Given the description of an element on the screen output the (x, y) to click on. 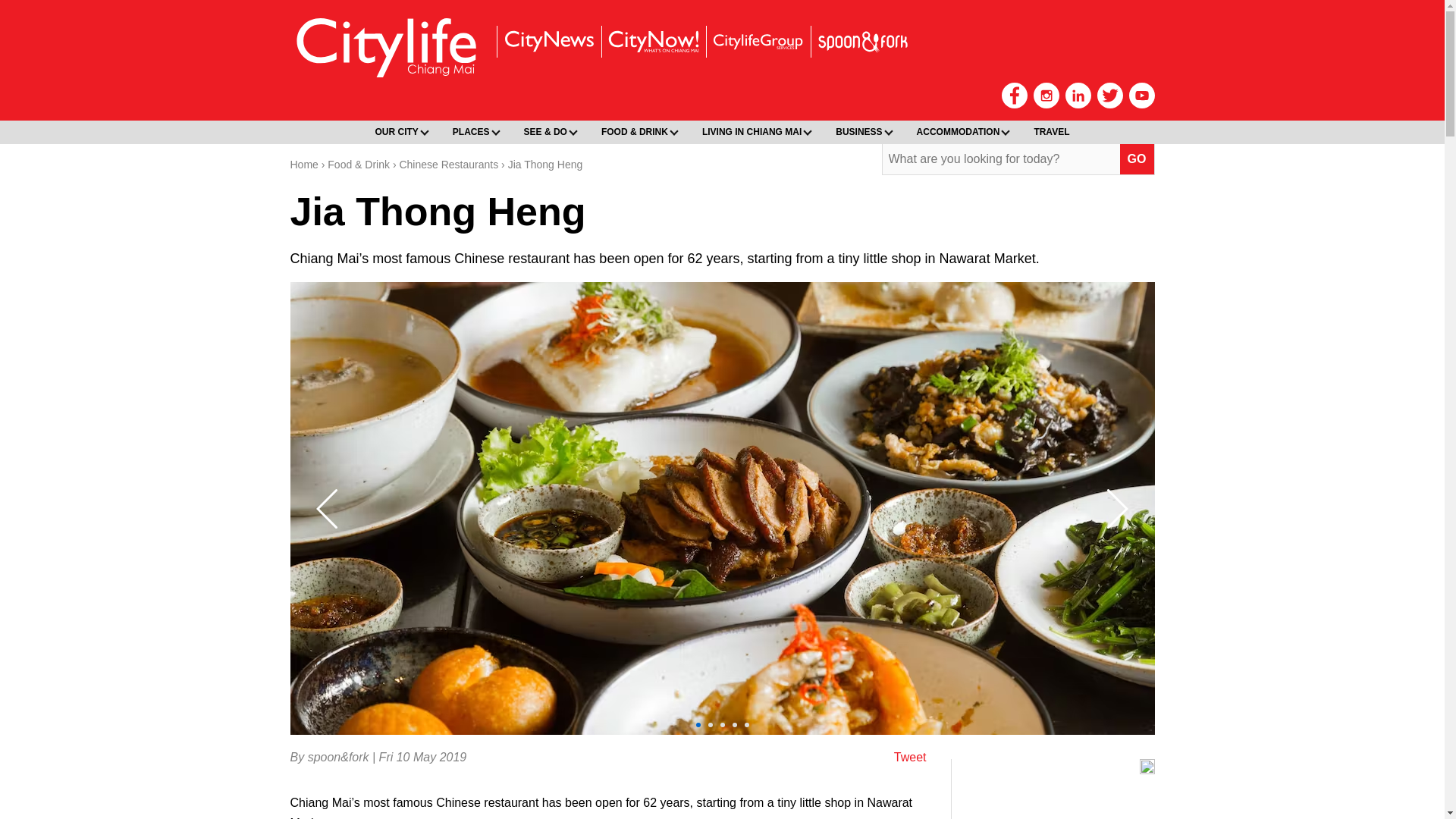
Go (1136, 159)
Go (1136, 159)
OUR CITY (398, 132)
Chiang Mai Citylife (386, 47)
Citylife Group Services (757, 40)
CityNow - What's on Chiang Mai (652, 41)
PLACES (473, 132)
CityNews (548, 41)
